Given the description of an element on the screen output the (x, y) to click on. 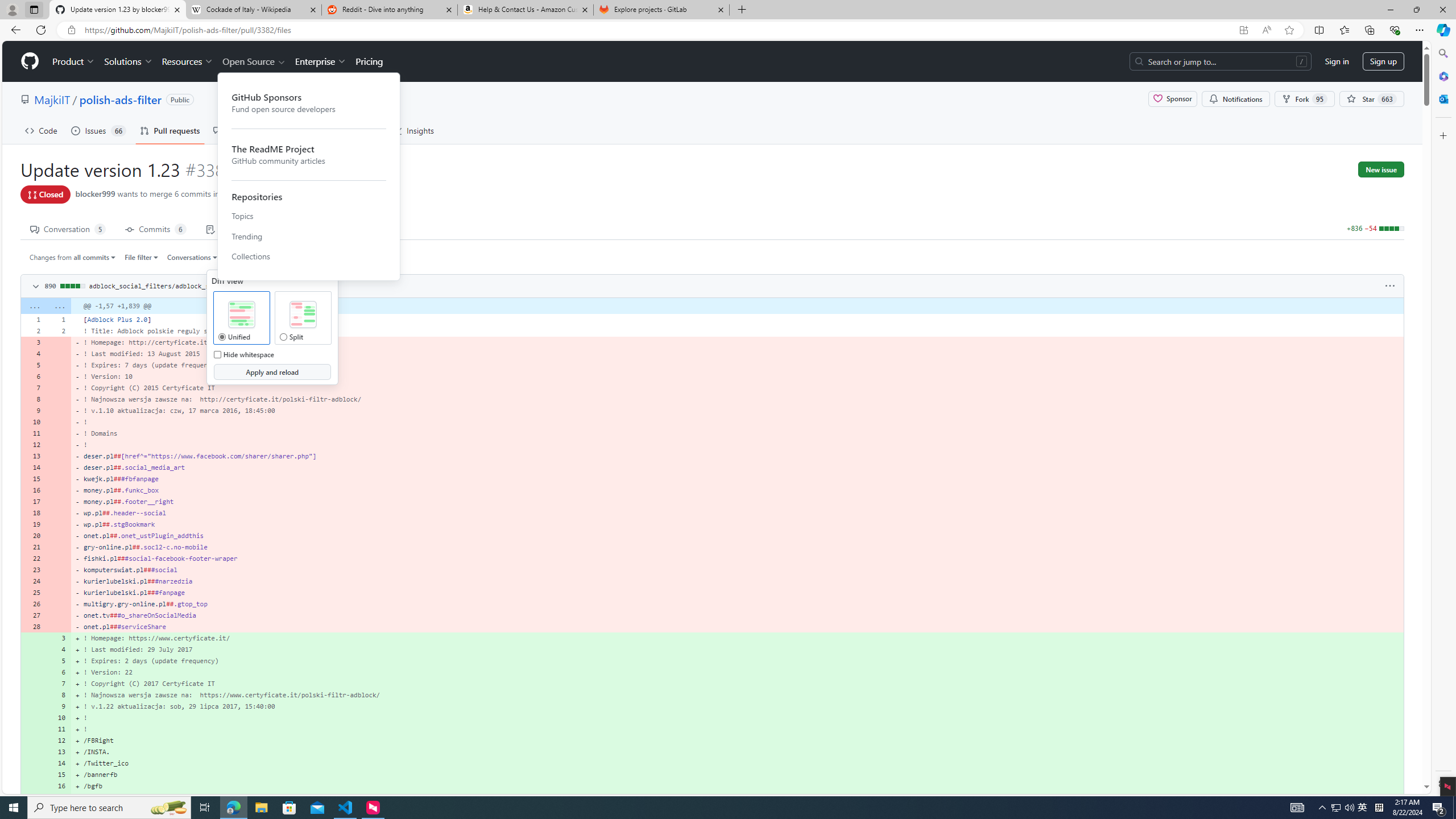
Split Diff View Split (282, 336)
Pricing (368, 60)
Security (357, 130)
Show options (1390, 285)
Unified Diff View Unified (221, 336)
+ ! Version: 22 (737, 672)
Pricing (368, 60)
Actions (302, 130)
12 (58, 740)
2 (58, 330)
@@ -1,57 +1,839 @@ (737, 305)
9 (58, 706)
